Given the description of an element on the screen output the (x, y) to click on. 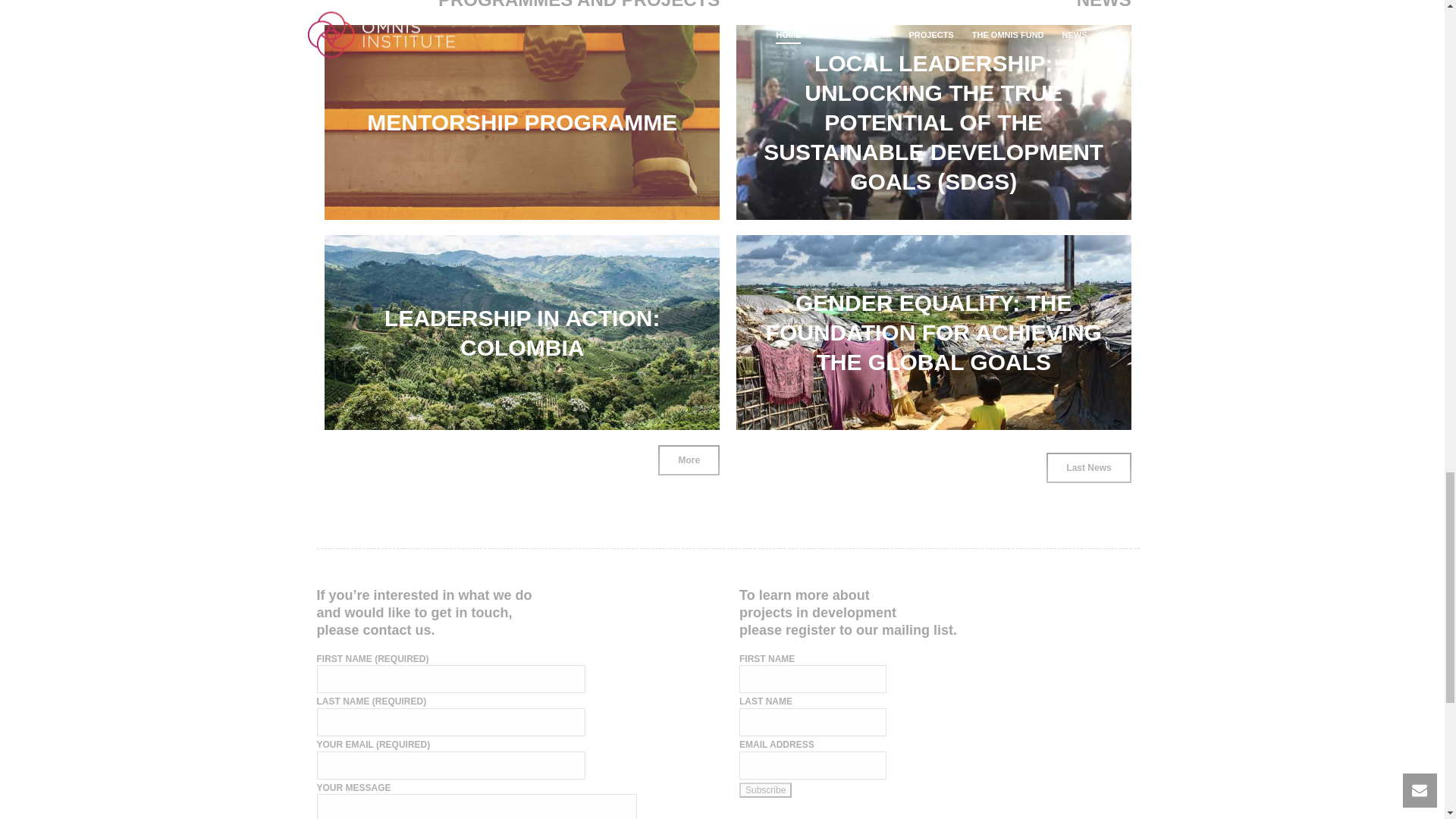
Explore (670, 381)
Explore (1081, 171)
Last News (1088, 467)
Subscribe (765, 789)
More (688, 460)
Explore (1081, 381)
Subscribe (765, 789)
Explore (670, 171)
